Given the description of an element on the screen output the (x, y) to click on. 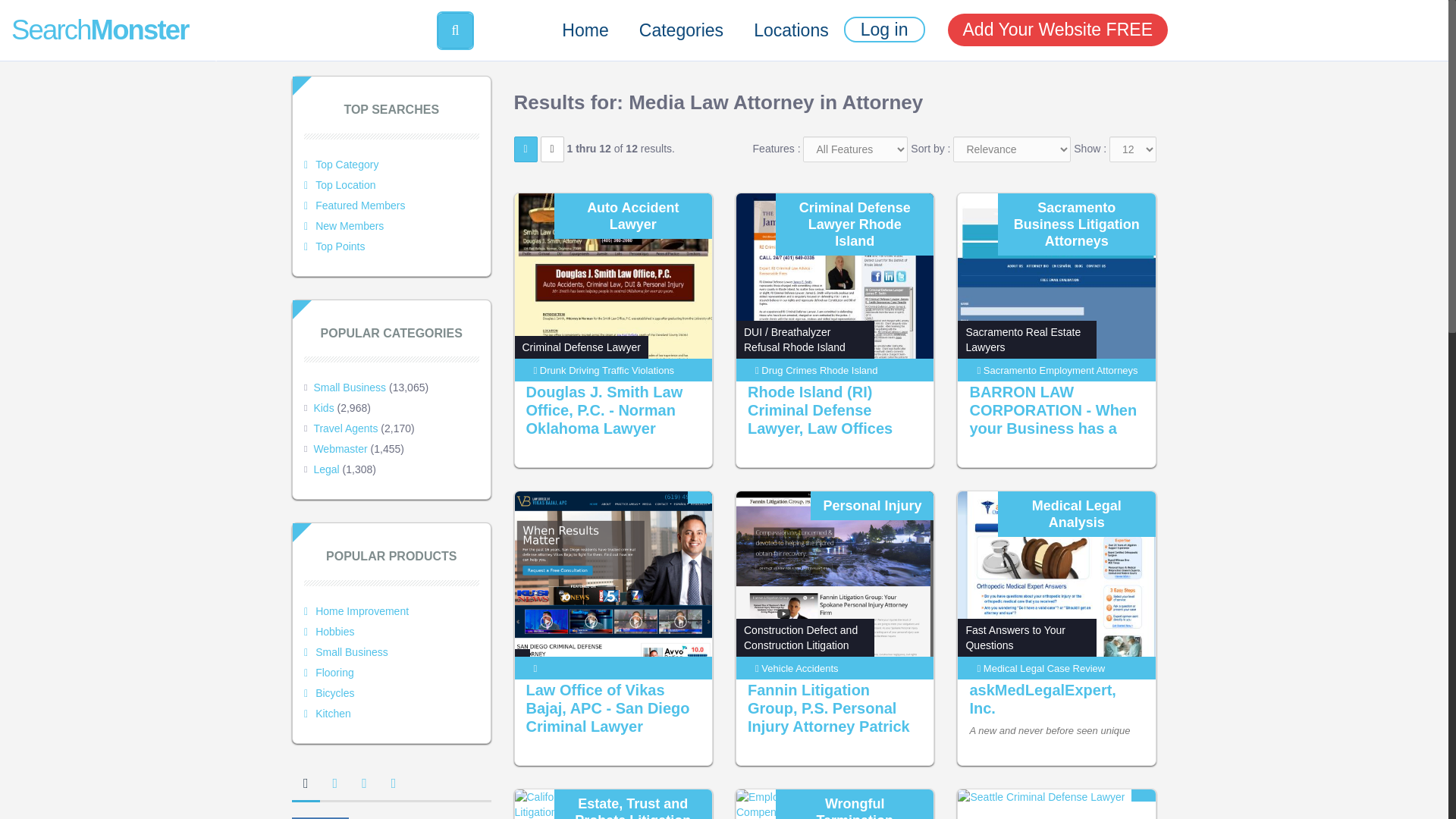
New Members (344, 225)
Top Location (339, 184)
Locations (791, 30)
Featured Members (354, 205)
Law Office of Vikas Bajaj, APC - San Diego Criminal Lawyer (607, 707)
askMedLegalExpert, Inc. (1042, 698)
Log in (884, 29)
Add Your Website FREE (1058, 29)
Home (585, 30)
SearchMonster (109, 18)
Add Your Website FREE (1057, 29)
Top Category (341, 164)
Douglas J. Smith Law Office, P.C. - Norman Oklahoma Lawyer (603, 410)
